Given the description of an element on the screen output the (x, y) to click on. 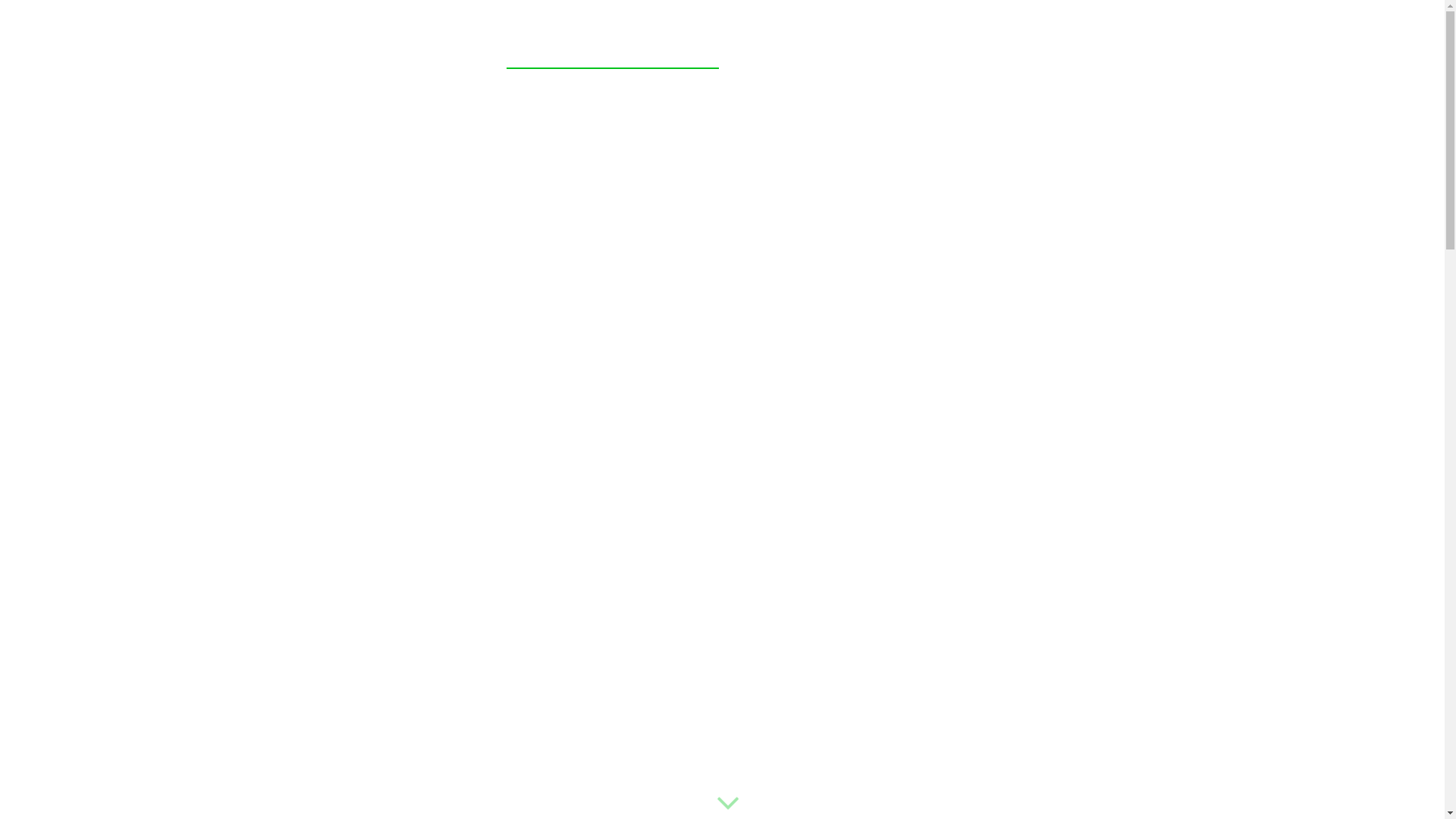
Unsere Leistungen Element type: text (612, 48)
Kontakt Element type: text (1017, 48)
Referenzen Element type: text (793, 48)
Startseite Element type: text (438, 48)
